Given the description of an element on the screen output the (x, y) to click on. 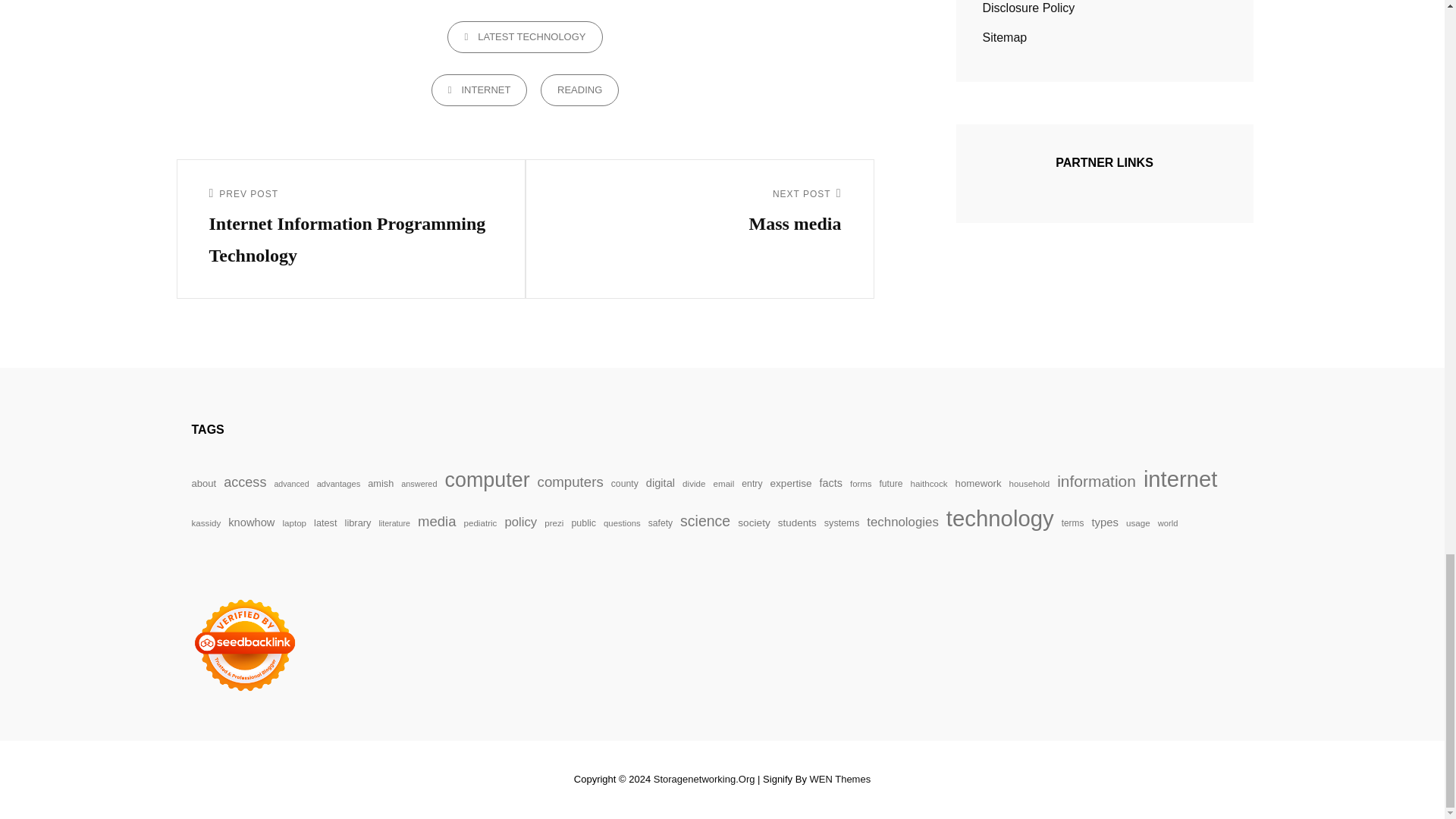
Seedbacklink (243, 645)
INTERNET (699, 212)
READING (478, 90)
LATEST TECHNOLOGY (579, 90)
